Given the description of an element on the screen output the (x, y) to click on. 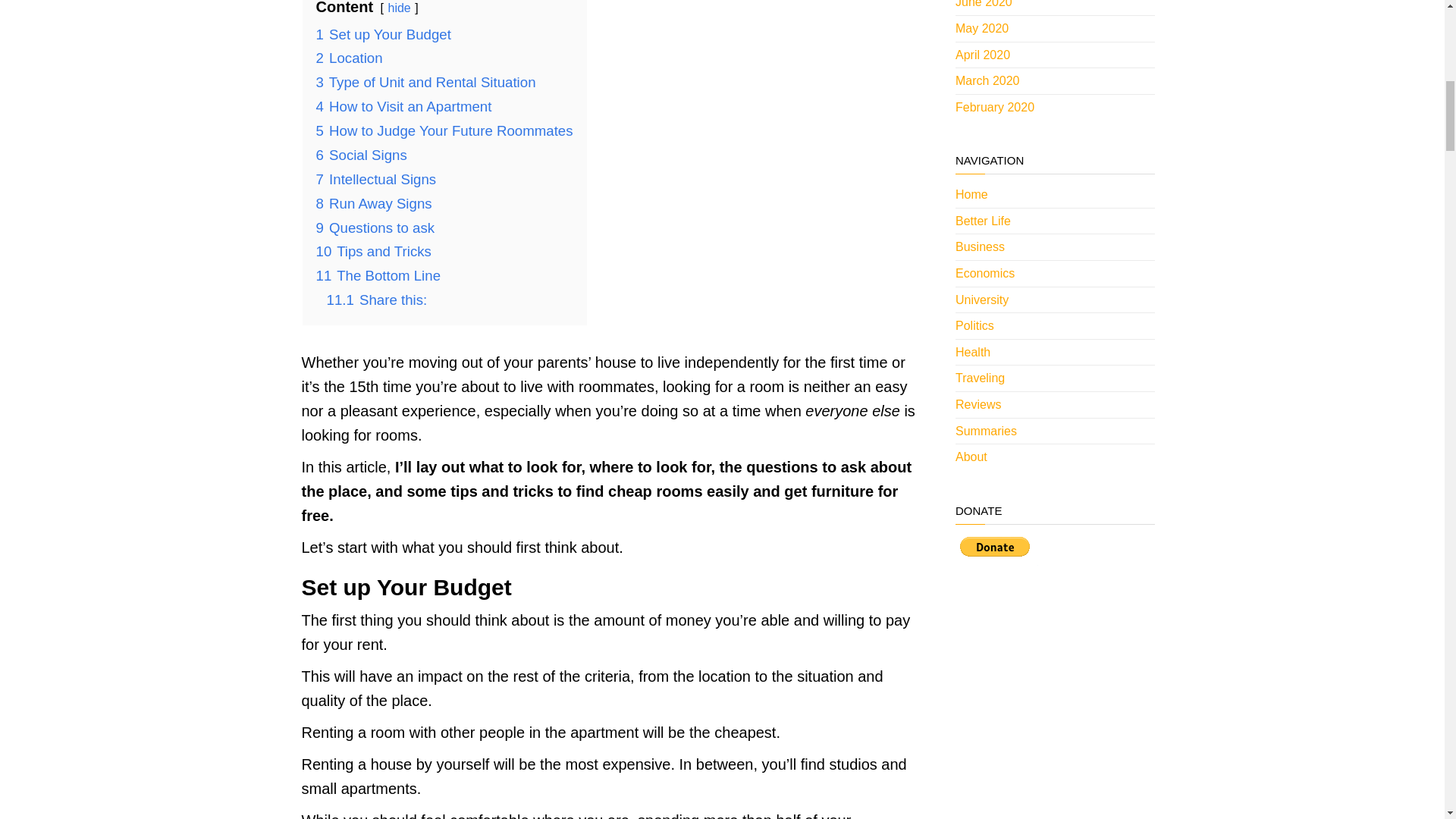
7 Intellectual Signs (375, 179)
10 Tips and Tricks (372, 251)
5 How to Judge Your Future Roommates (443, 130)
2 Location (348, 57)
11.1 Share this: (376, 299)
1 Set up Your Budget (382, 34)
hide (399, 7)
6 Social Signs (360, 154)
8 Run Away Signs (372, 203)
3 Type of Unit and Rental Situation (425, 82)
